Given the description of an element on the screen output the (x, y) to click on. 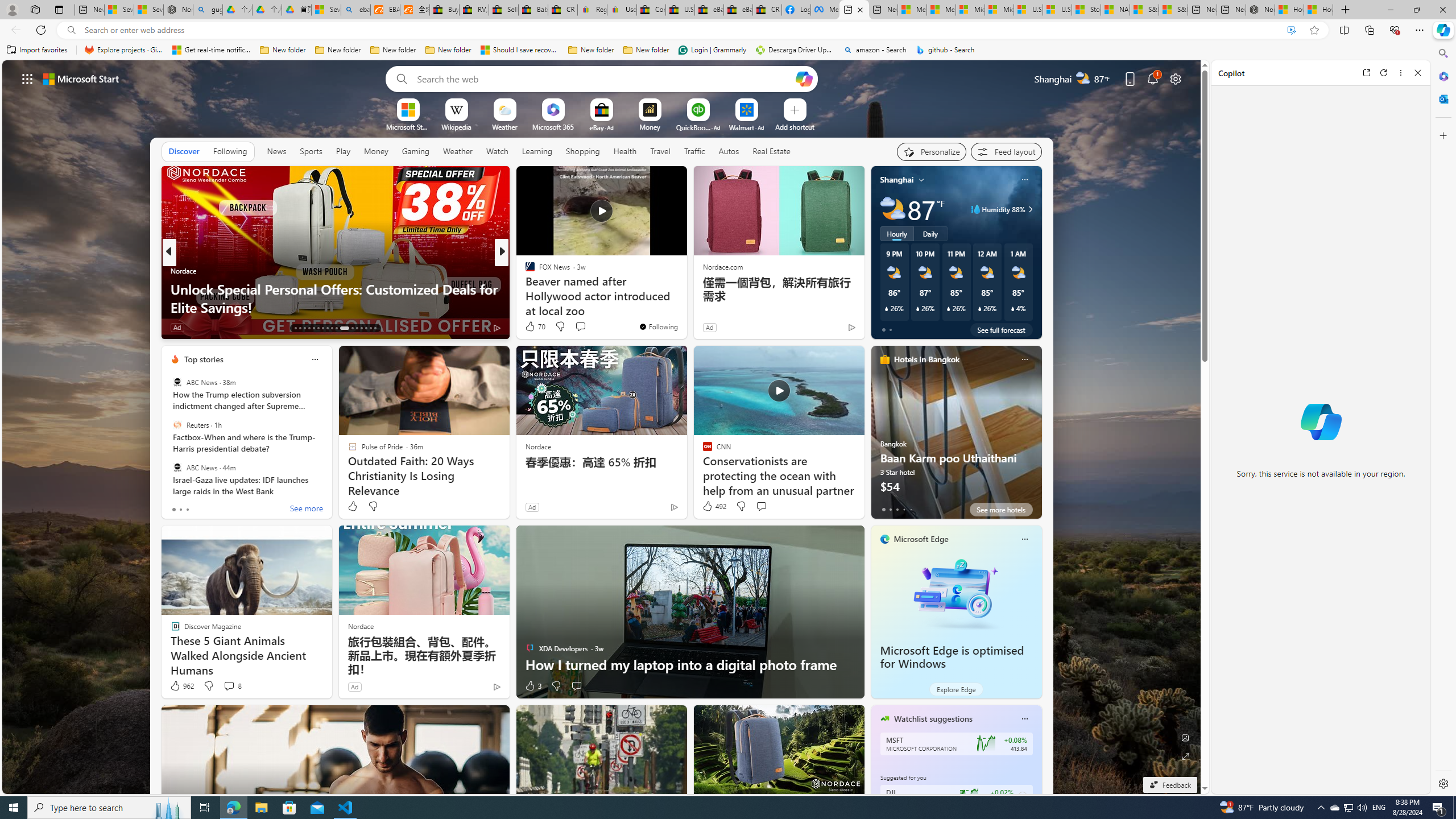
Microsoft Edge is optimised for Windows (955, 592)
Add this page to favorites (Ctrl+D) (1314, 29)
AutomationID: tab-23 (343, 328)
